Given the description of an element on the screen output the (x, y) to click on. 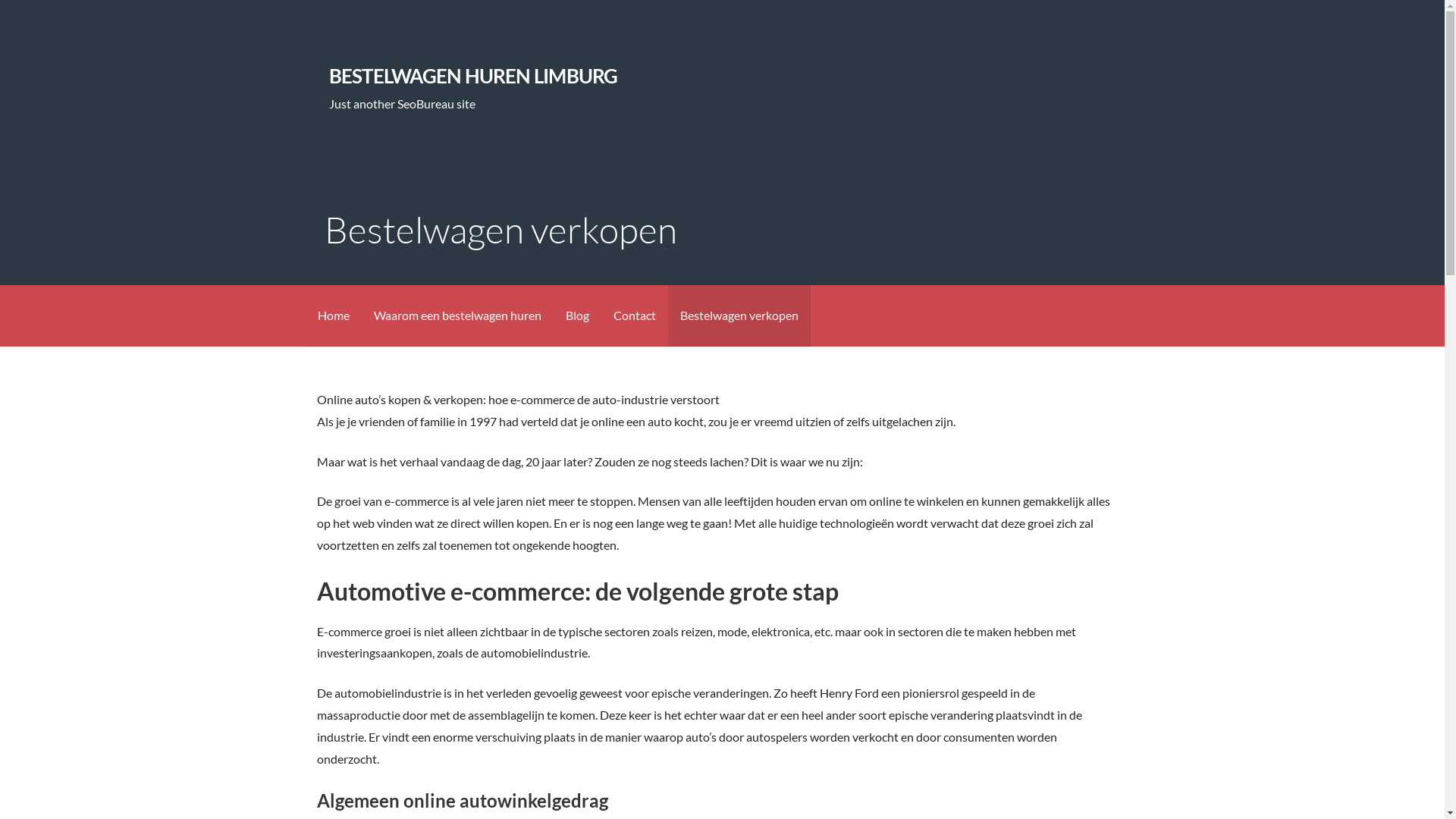
Blog Element type: text (577, 315)
Bestelwagen verkopen Element type: text (738, 315)
BESTELWAGEN HUREN LIMBURG Element type: text (473, 75)
Contact Element type: text (633, 315)
Home Element type: text (332, 315)
Waarom een bestelwagen huren Element type: text (456, 315)
